Given the description of an element on the screen output the (x, y) to click on. 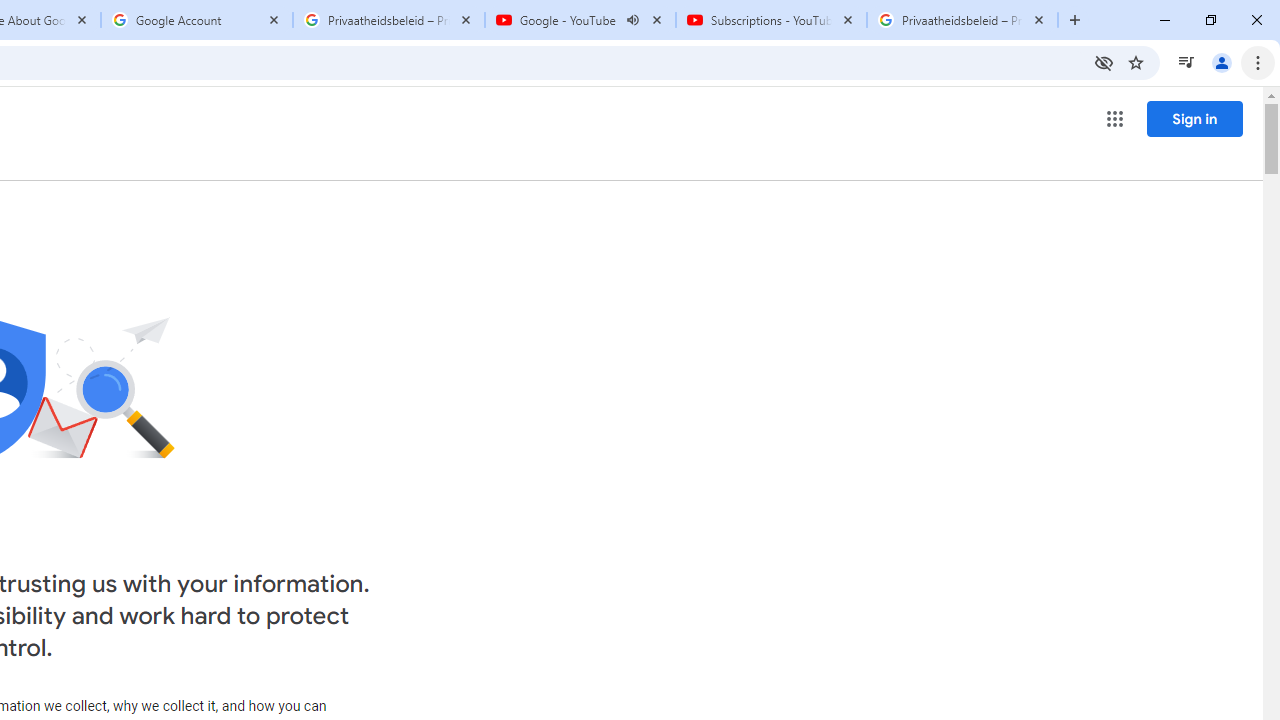
Google - YouTube - Audio playing (580, 20)
Subscriptions - YouTube (770, 20)
Google Account (197, 20)
